Given the description of an element on the screen output the (x, y) to click on. 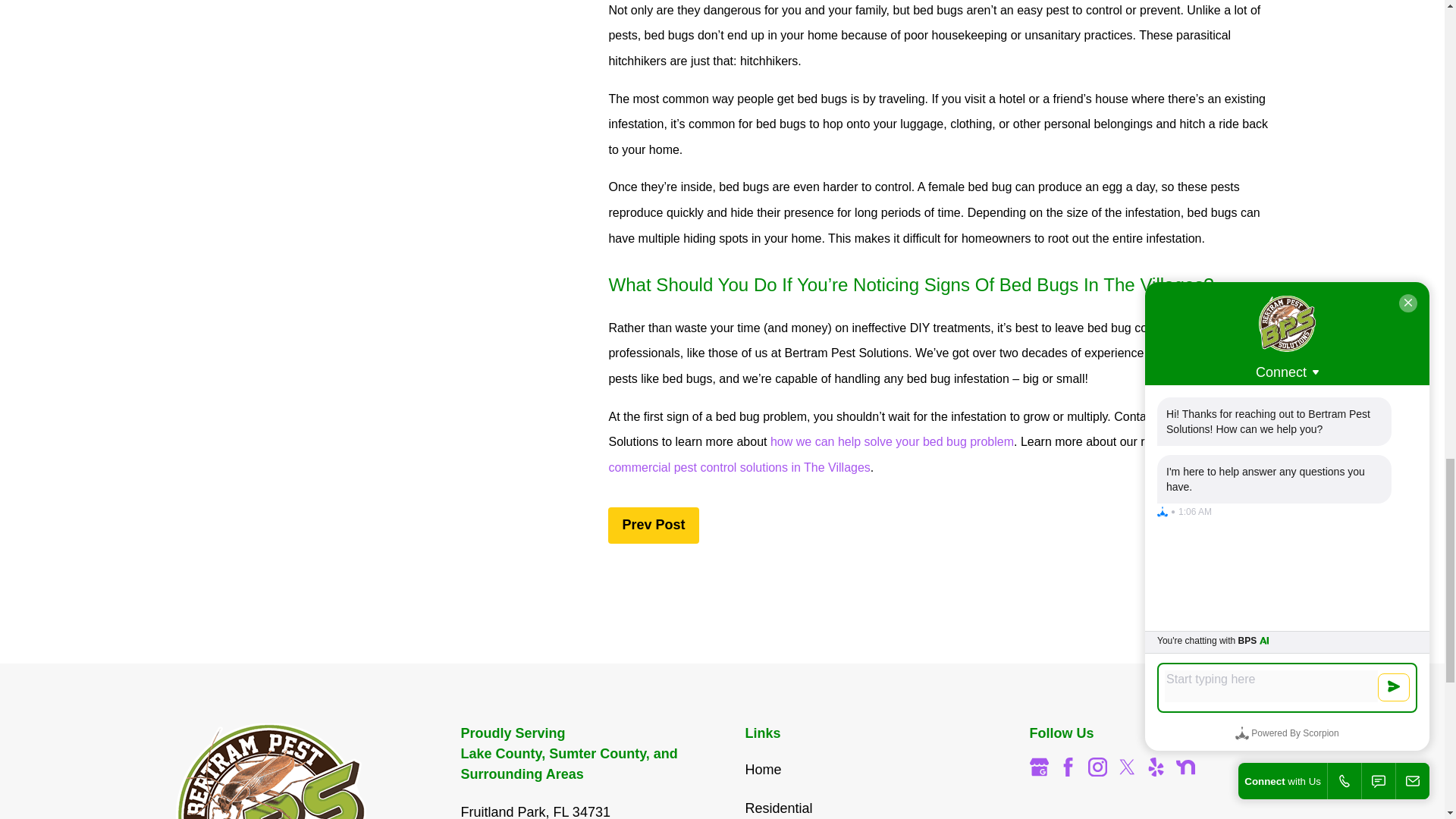
Home (285, 771)
Facebook (1067, 766)
Bertram Pest Solutions (271, 771)
Google Business Profile (1038, 766)
